Given the description of an element on the screen output the (x, y) to click on. 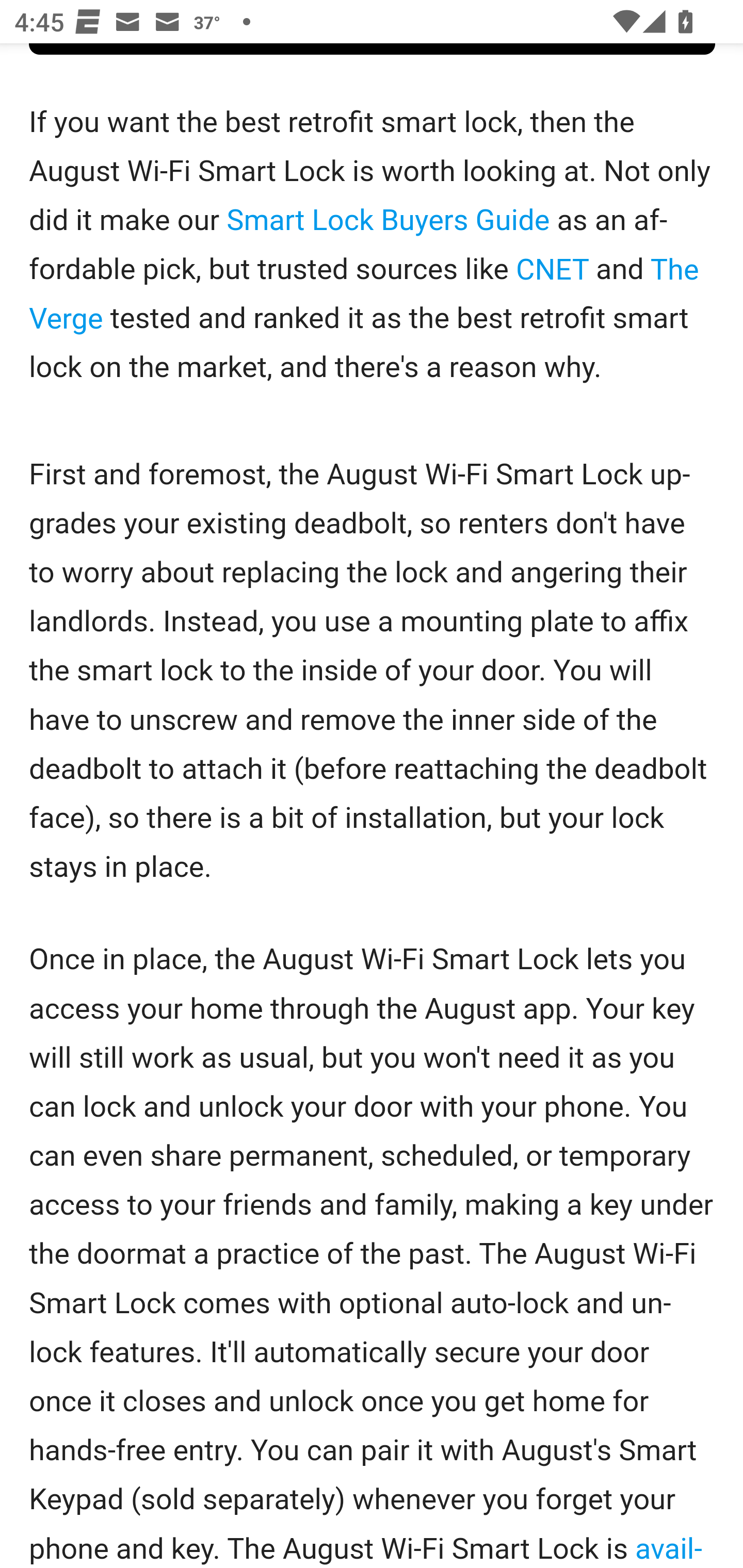
Smart Lock Buyers Guide (387, 222)
The Verge (364, 295)
CNET (551, 270)
available on Amazon (365, 1547)
